Given the description of an element on the screen output the (x, y) to click on. 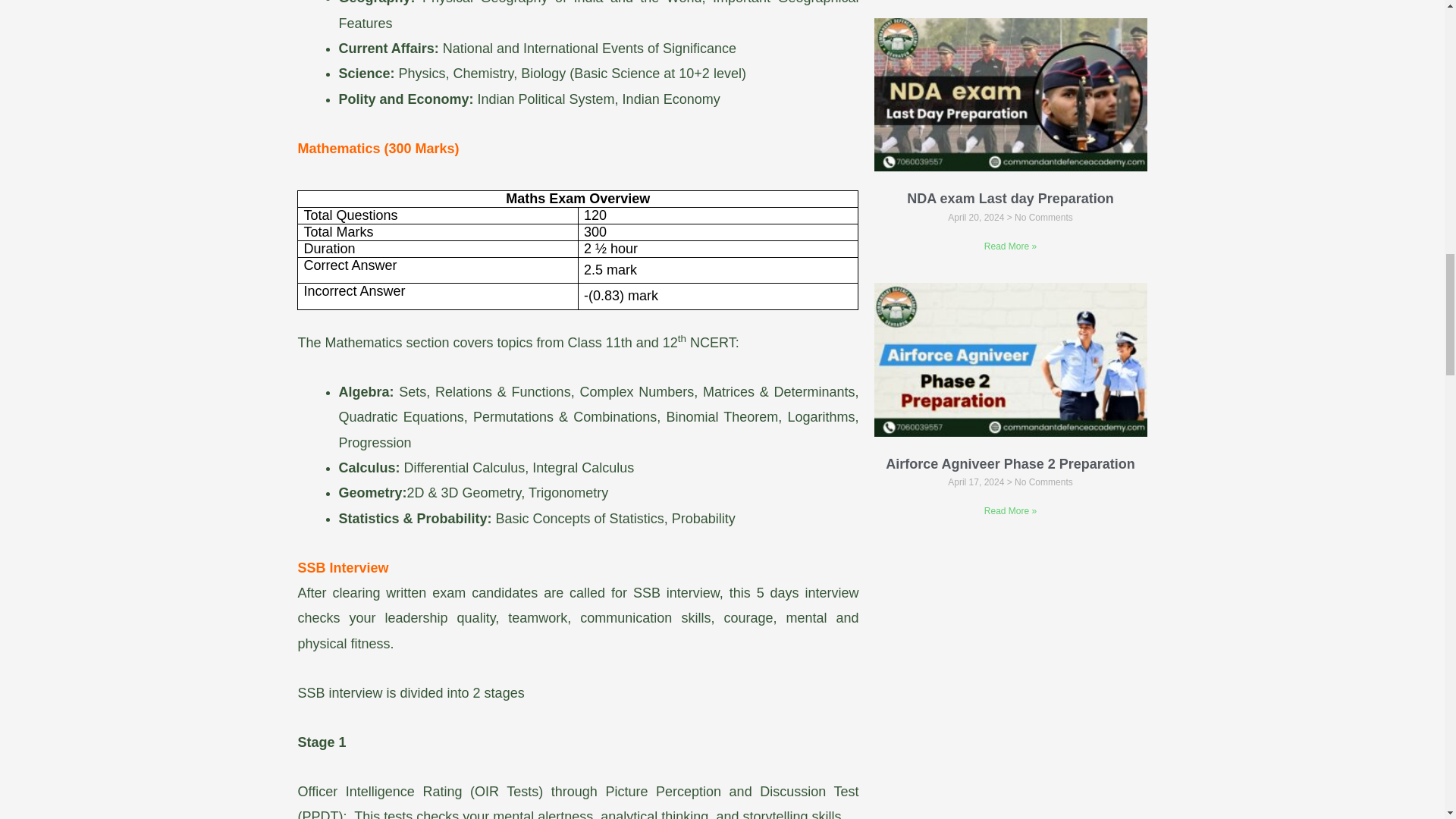
Bulletproof Study Plan for NDA Exam Success 6 (1010, 359)
Bulletproof Study Plan for NDA Exam Success 5 (1010, 94)
